Given the description of an element on the screen output the (x, y) to click on. 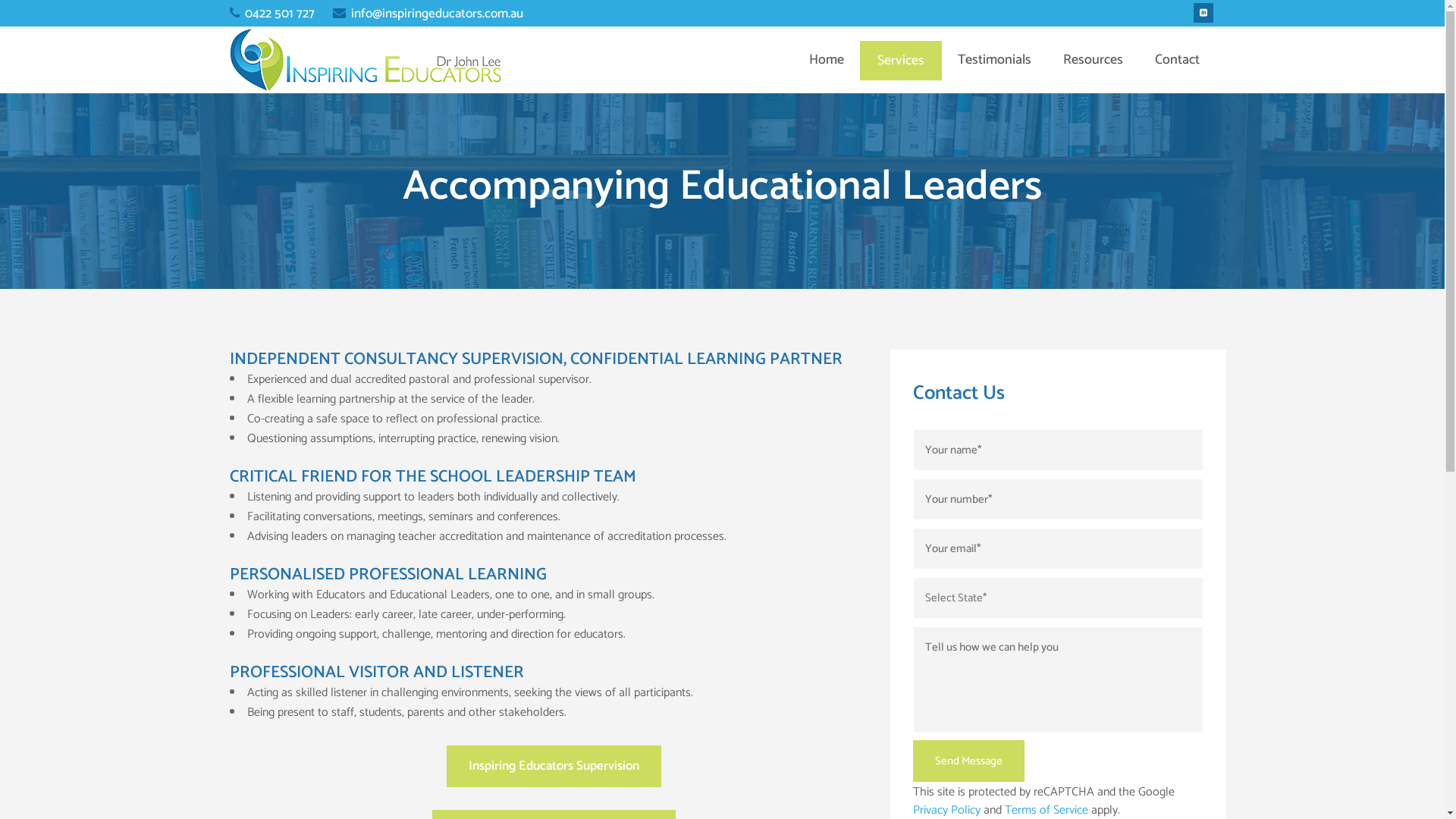
Services Element type: text (900, 59)
Send Message Element type: text (968, 760)
0422 501 727 Element type: text (271, 14)
Home Element type: text (826, 59)
Inspiring Educators Supervision Element type: text (553, 766)
Contact Element type: text (1177, 59)
Testimonials Element type: text (994, 59)
Resources Element type: text (1092, 59)
info@inspiringeducators.com.au Element type: text (417, 14)
